Given the description of an element on the screen output the (x, y) to click on. 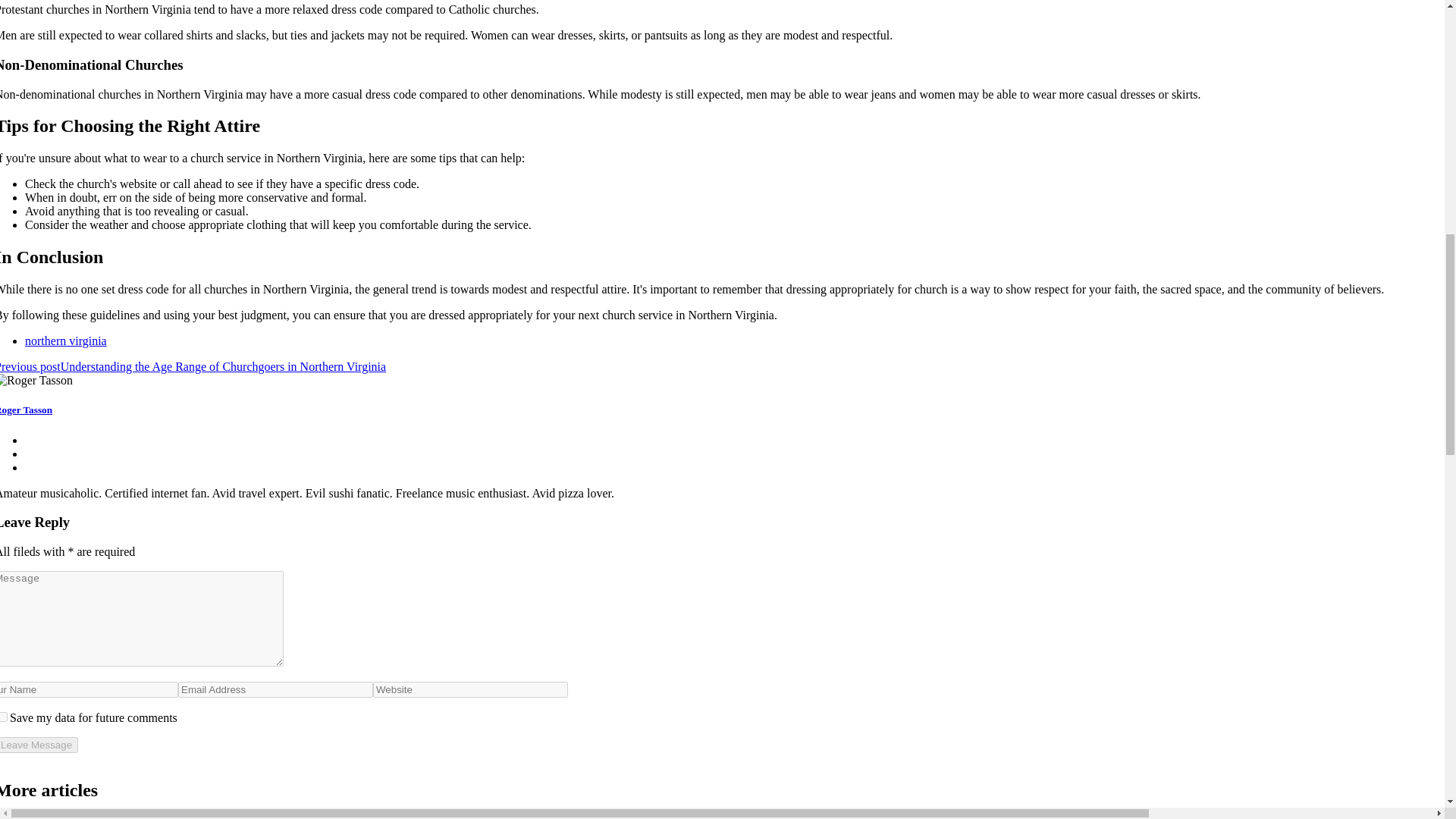
northern virginia (65, 340)
Roger Tasson (26, 409)
Leave Message (39, 744)
Leave Message (39, 744)
